Given the description of an element on the screen output the (x, y) to click on. 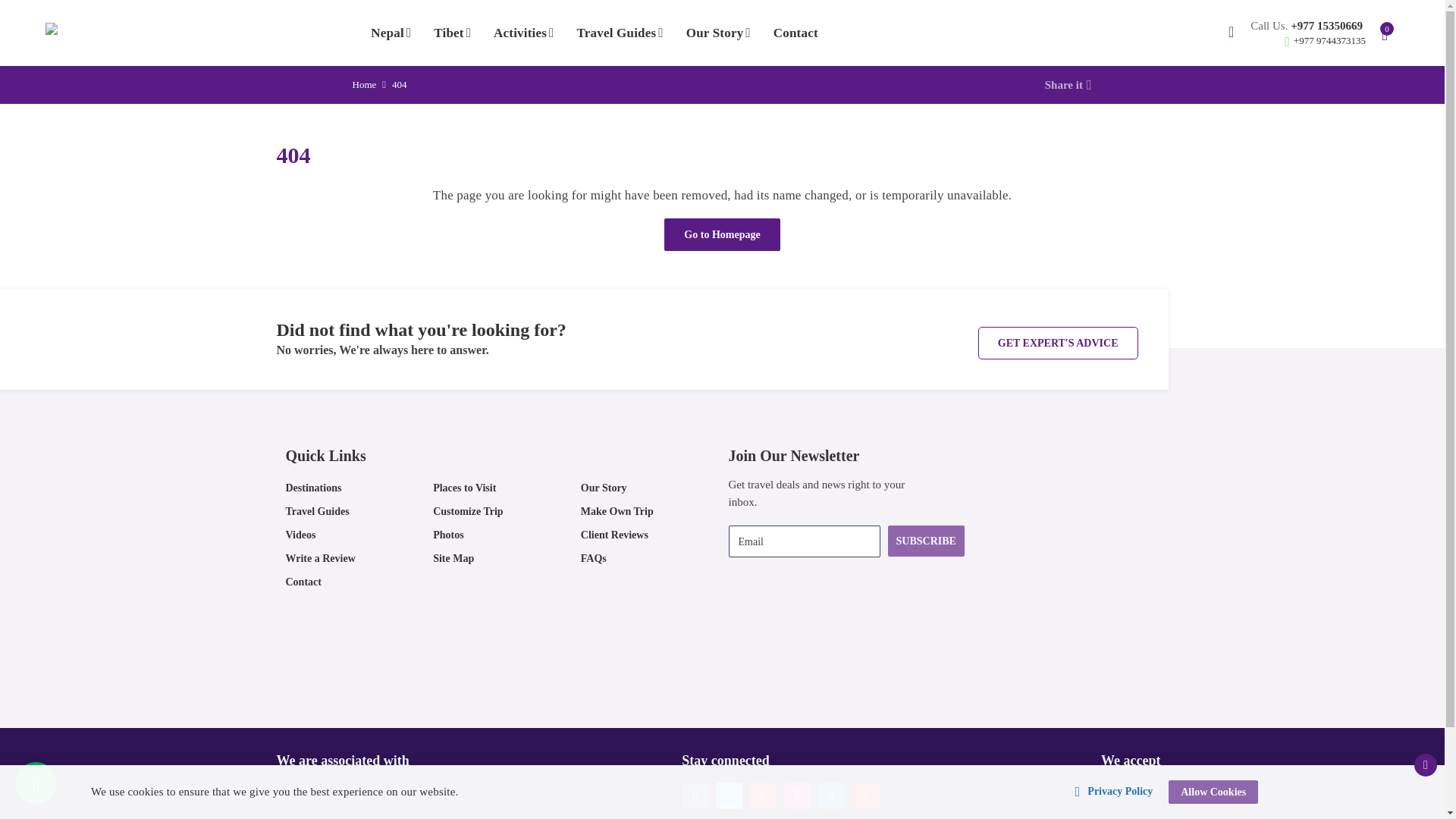
Activities (522, 32)
Nepal (390, 32)
Travel Guides (620, 32)
Our Story (718, 32)
Tibet (451, 32)
